Given the description of an element on the screen output the (x, y) to click on. 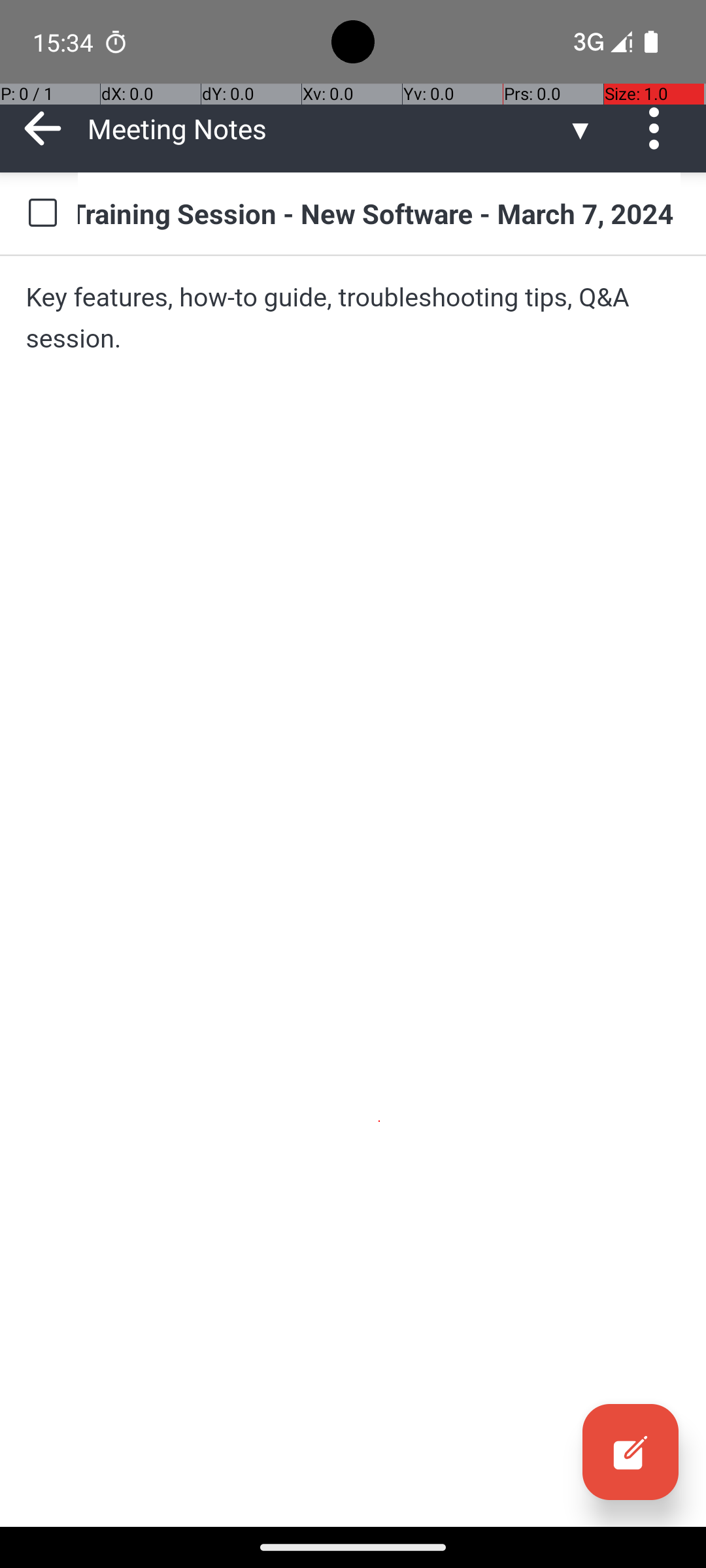
Key features, how-to guide, troubleshooting tips, Q&A session. Element type: android.widget.TextView (352, 317)
